Given the description of an element on the screen output the (x, y) to click on. 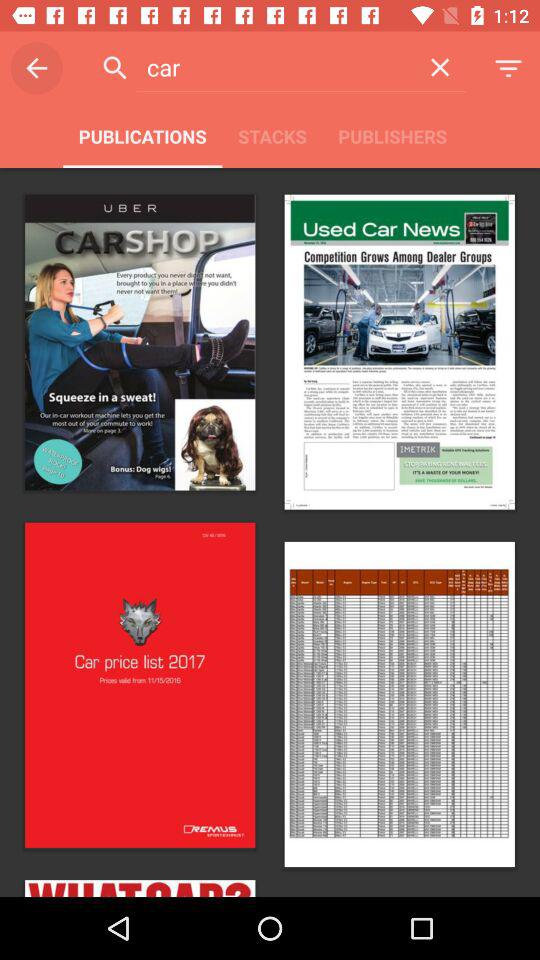
turn off the icon above the publications icon (36, 68)
